Given the description of an element on the screen output the (x, y) to click on. 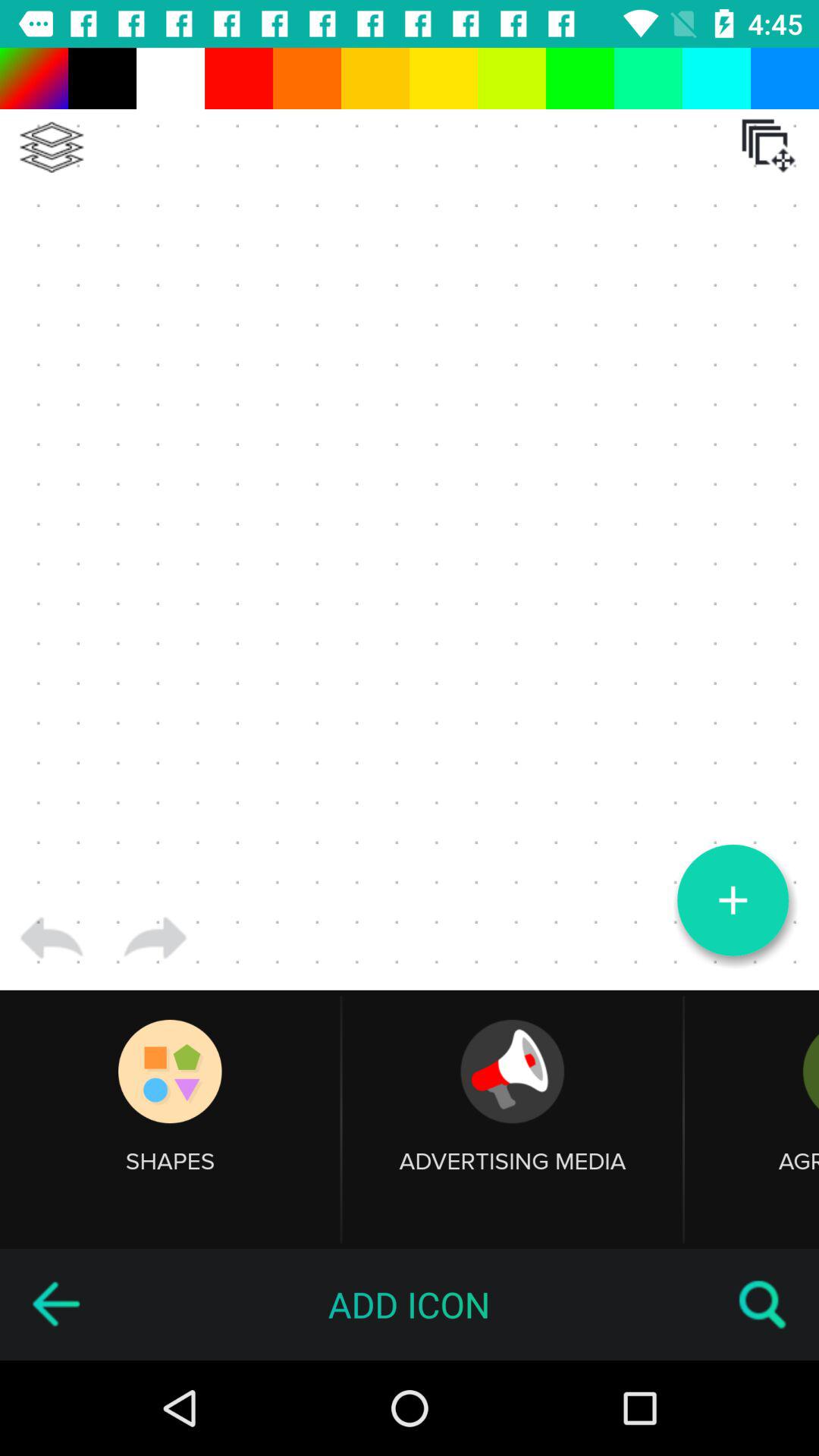
drawing in this field (409, 518)
